Given the description of an element on the screen output the (x, y) to click on. 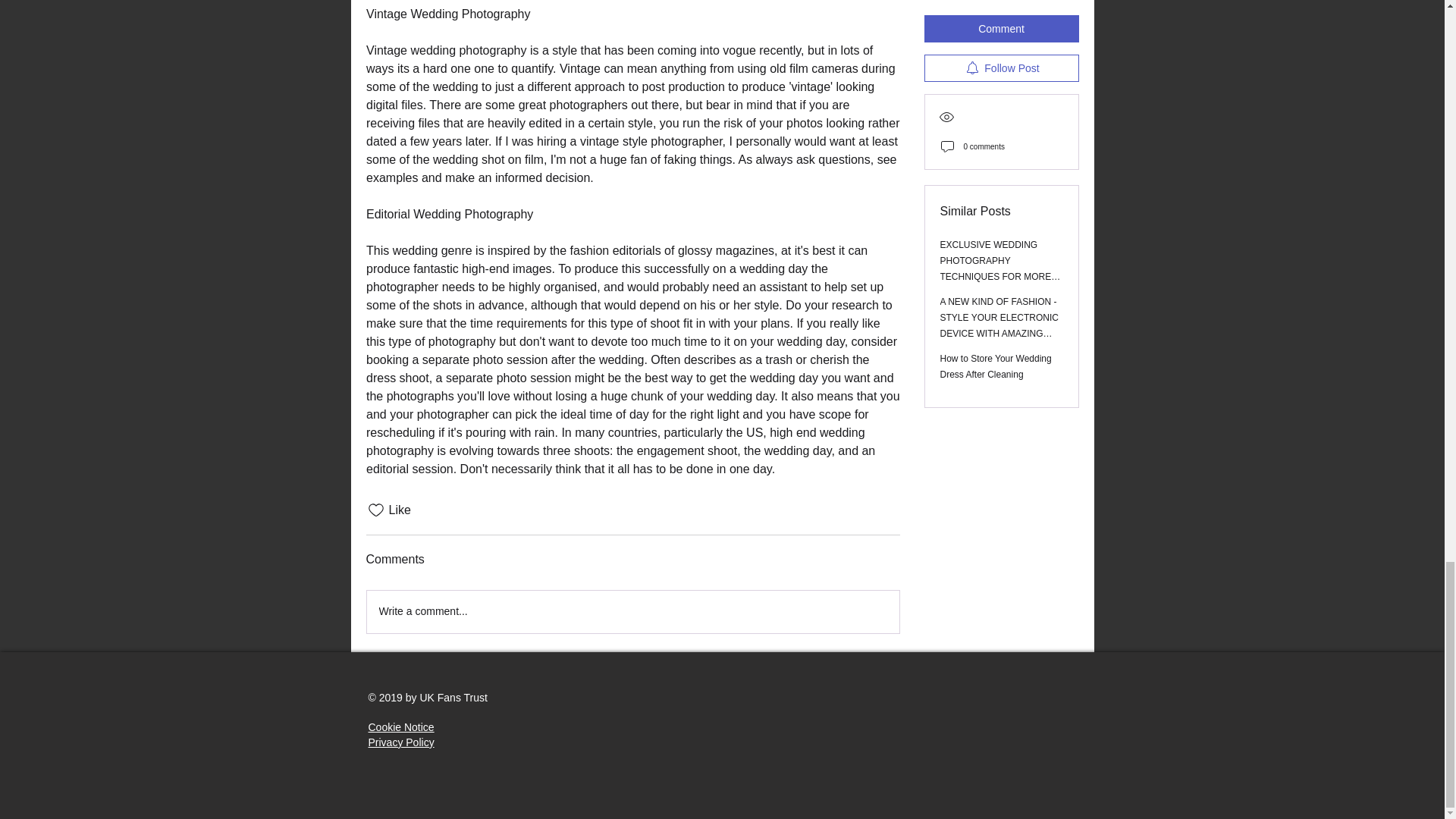
Write a comment... (632, 611)
Privacy Policy (400, 742)
Cookie Notice (400, 727)
